Given the description of an element on the screen output the (x, y) to click on. 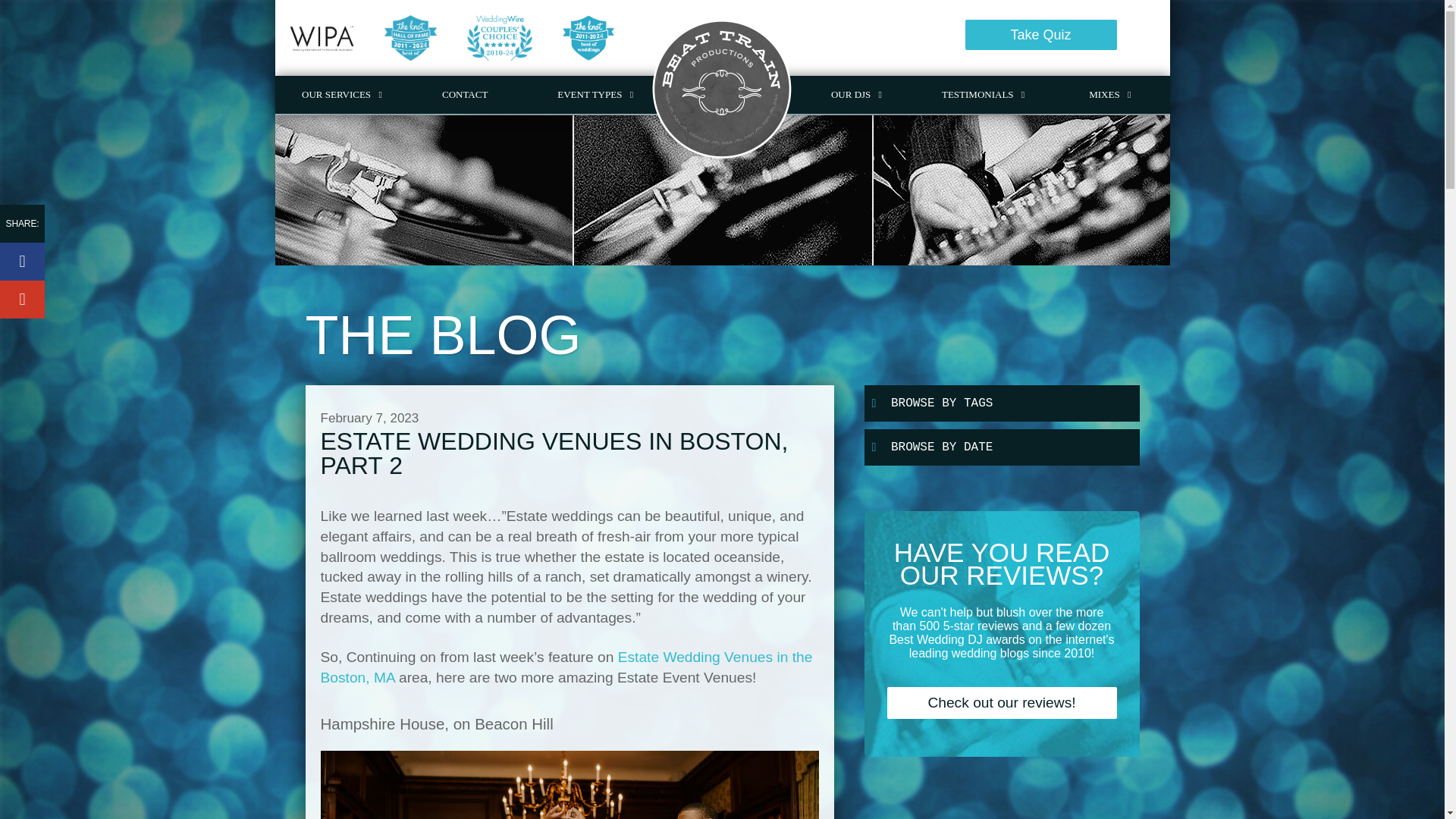
OUR DJS (858, 94)
EVENT TYPES (596, 94)
TESTIMONIALS (985, 94)
MIXES (1111, 94)
Take Quiz (1039, 34)
Share on Facebook (22, 261)
CONTACT (464, 94)
OUR SERVICES (343, 94)
